Given the description of an element on the screen output the (x, y) to click on. 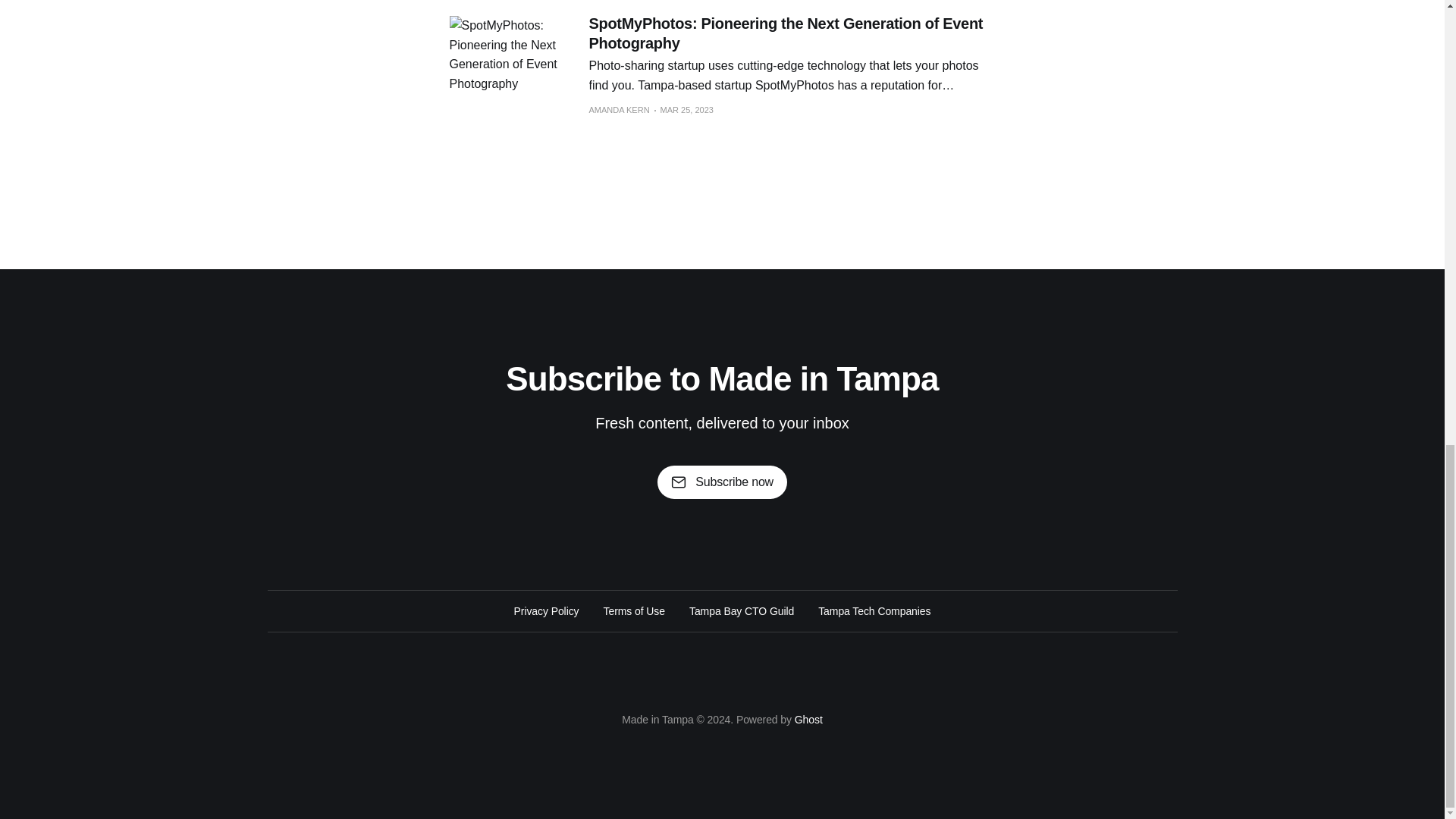
Terms of Use (634, 610)
Subscribe now (722, 482)
Privacy Policy (546, 610)
Tampa Bay CTO Guild (740, 610)
Ghost (808, 719)
Tampa Tech Companies (874, 610)
